Given the description of an element on the screen output the (x, y) to click on. 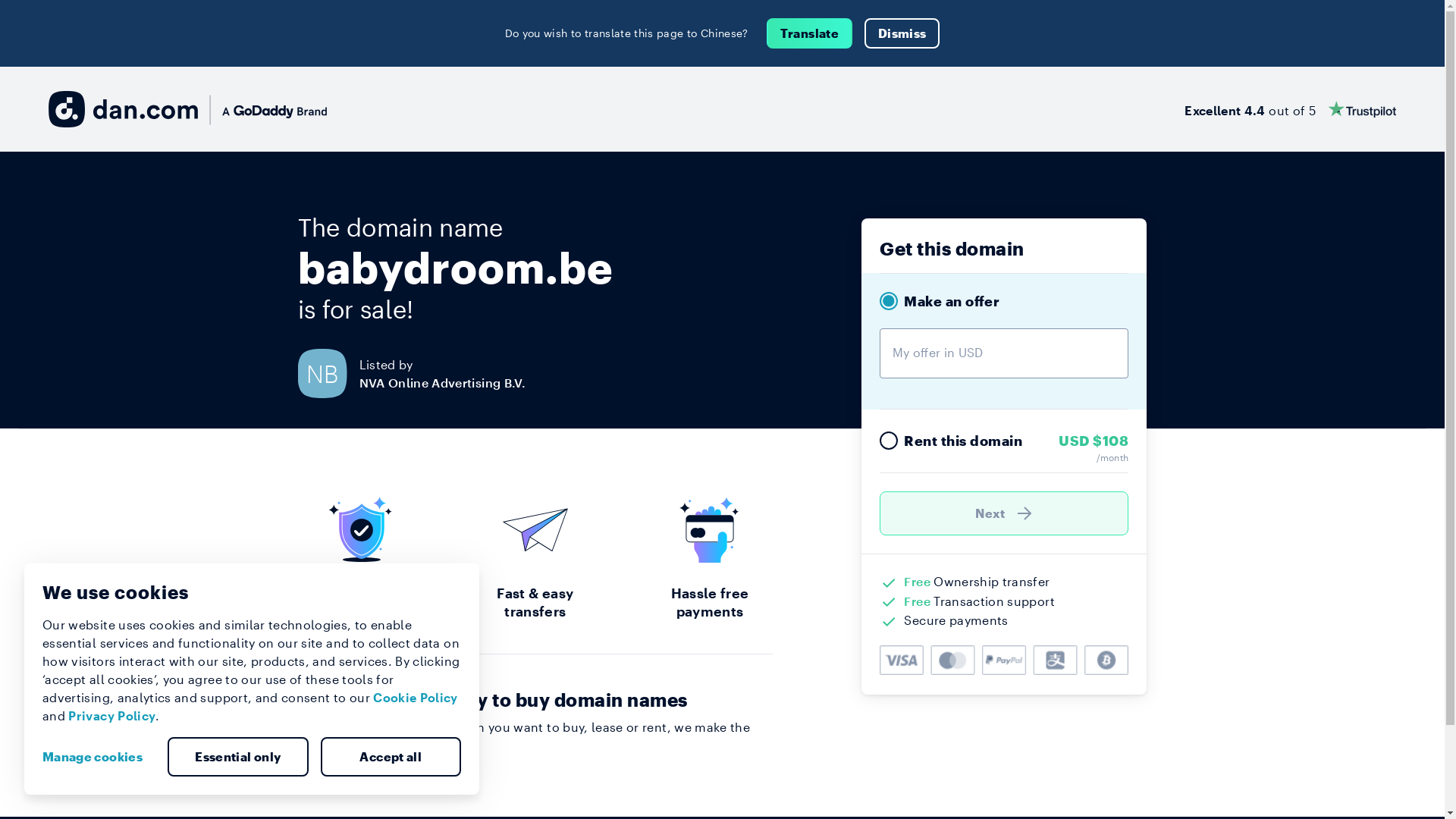
Privacy Policy Element type: text (111, 715)
Manage cookies Element type: text (98, 756)
Next
) Element type: text (1003, 513)
Excellent 4.4 out of 5 Element type: text (1290, 109)
Translate Element type: text (809, 33)
Essential only Element type: text (237, 756)
Dismiss Element type: text (901, 33)
Accept all Element type: text (390, 756)
Cookie Policy Element type: text (415, 697)
